Given the description of an element on the screen output the (x, y) to click on. 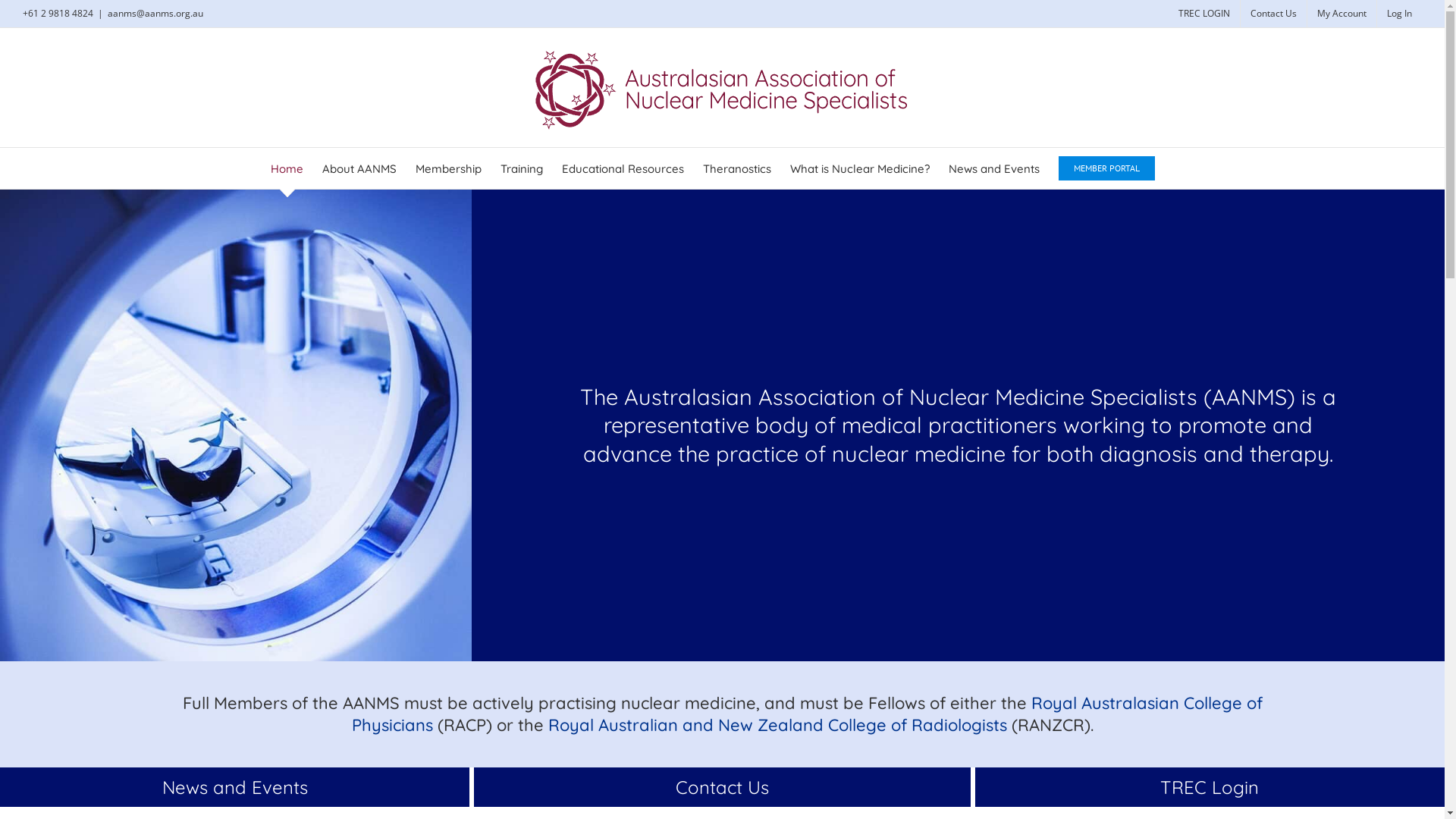
+61 2 9818 4824 Element type: text (57, 12)
Theranostics Element type: text (736, 167)
My Account Element type: text (1341, 13)
TREC Login Element type: text (1209, 786)
Royal Australasian College of Physicians  Element type: text (806, 713)
TREC LOGIN Element type: text (1203, 13)
News and Events Element type: text (993, 167)
aanms@aanms.org.au Element type: text (155, 12)
About AANMS Element type: text (359, 167)
Home Element type: text (286, 167)
Contact Us Element type: text (721, 786)
What is Nuclear Medicine? Element type: text (859, 167)
Membership Element type: text (448, 167)
Log In Element type: text (1399, 13)
MEMBER PORTAL Element type: text (1106, 167)
Royal Australian and New Zealand College of Radiologists  Element type: text (778, 724)
Educational Resources Element type: text (622, 167)
News and Events Element type: text (234, 786)
Contact Us Element type: text (1273, 13)
Training Element type: text (521, 167)
